Given the description of an element on the screen output the (x, y) to click on. 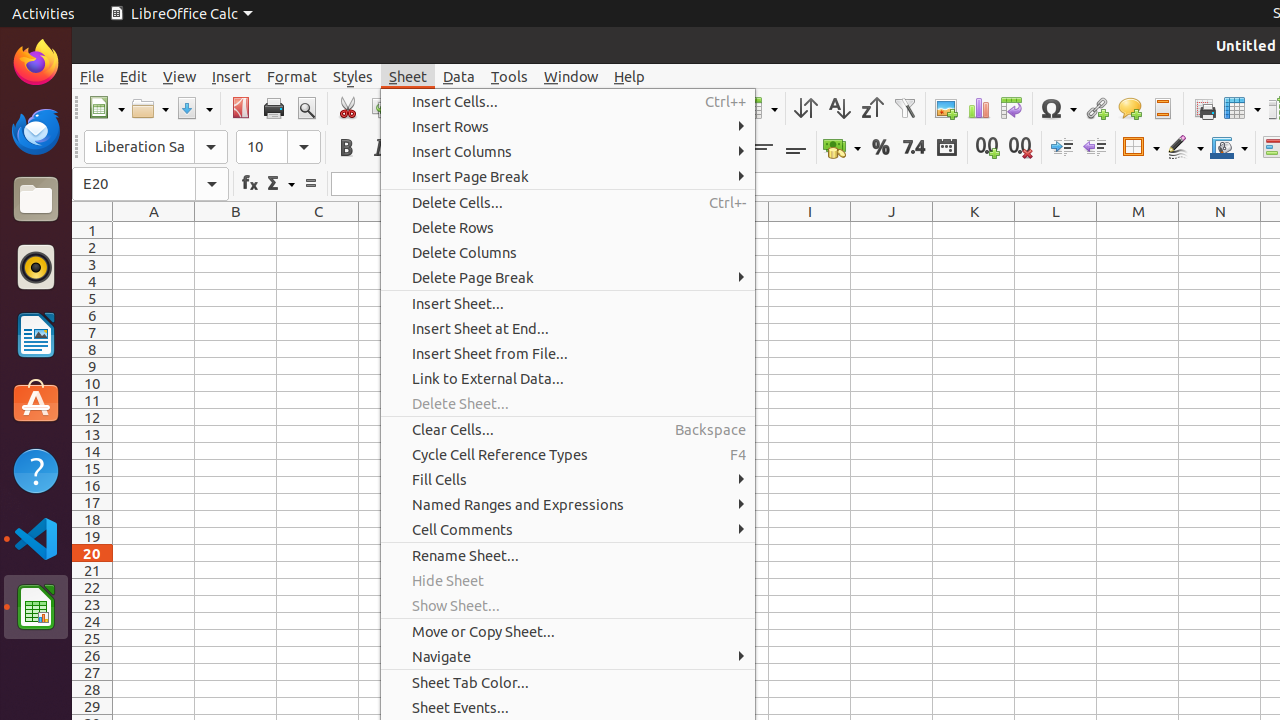
Hide Sheet Element type: menu-item (568, 580)
Print Element type: push-button (273, 108)
Decrease Element type: push-button (1094, 147)
Named Ranges and Expressions Element type: menu (568, 504)
Chart Element type: push-button (978, 108)
